Given the description of an element on the screen output the (x, y) to click on. 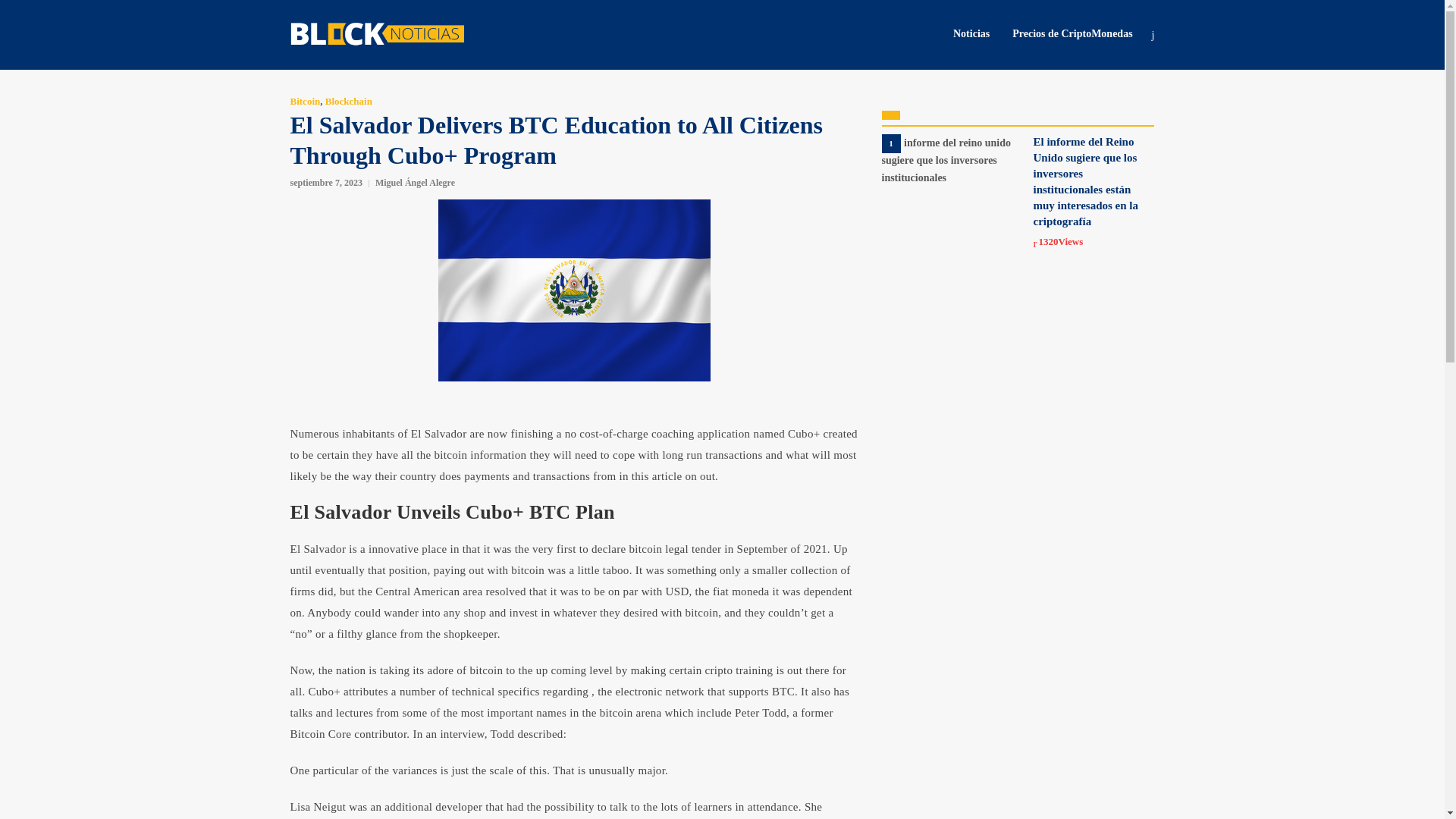
Bitcoin (304, 101)
Noticias (971, 33)
septiembre 7, 2023 5:15 (325, 182)
Precios de CriptoMonedas (1071, 33)
Blockchain (348, 101)
